Given the description of an element on the screen output the (x, y) to click on. 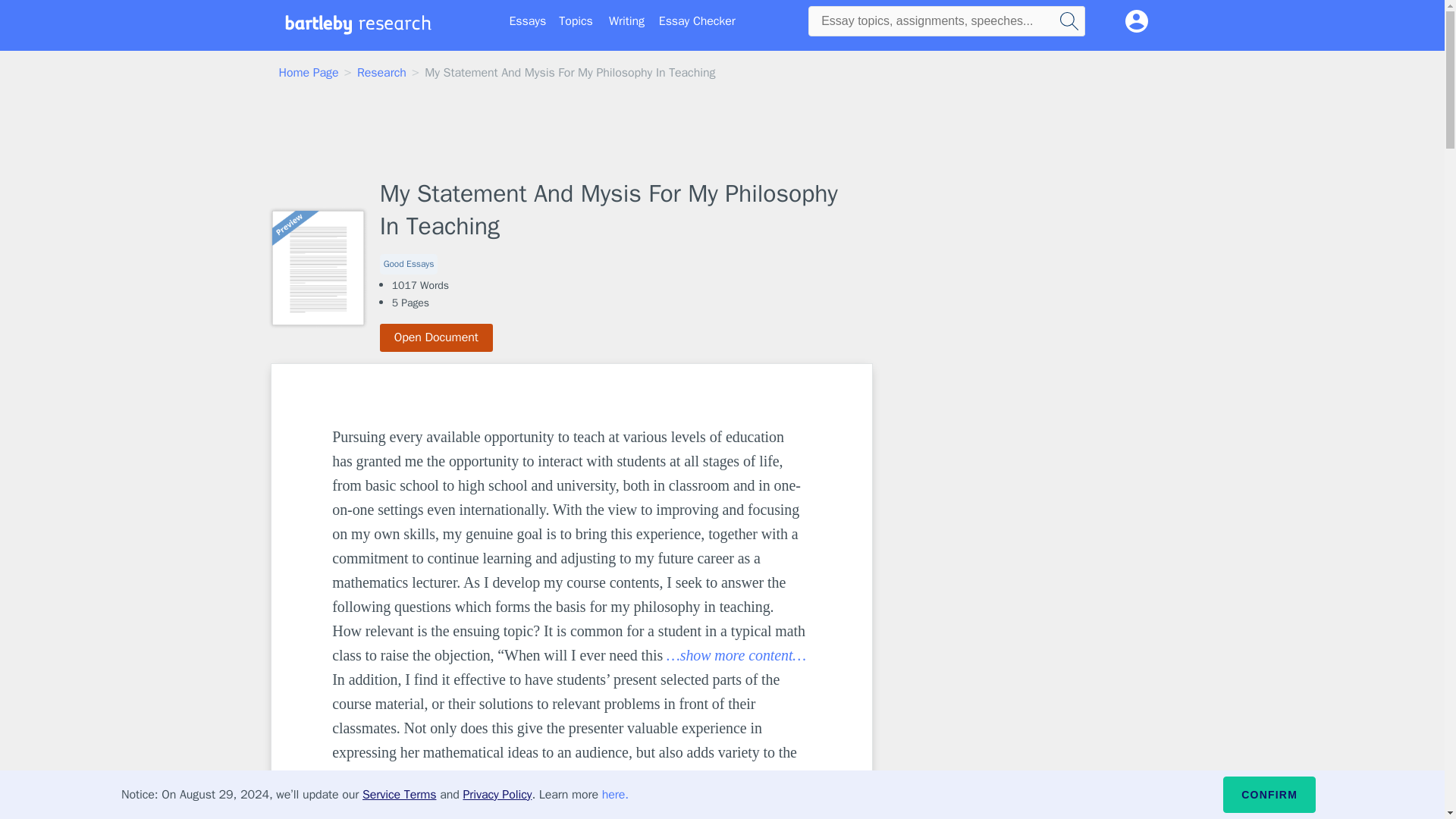
Open Document (436, 337)
Essays (528, 20)
Research (381, 72)
Essay Checker (697, 20)
Home Page (309, 72)
Writing (626, 20)
Topics (575, 20)
